Given the description of an element on the screen output the (x, y) to click on. 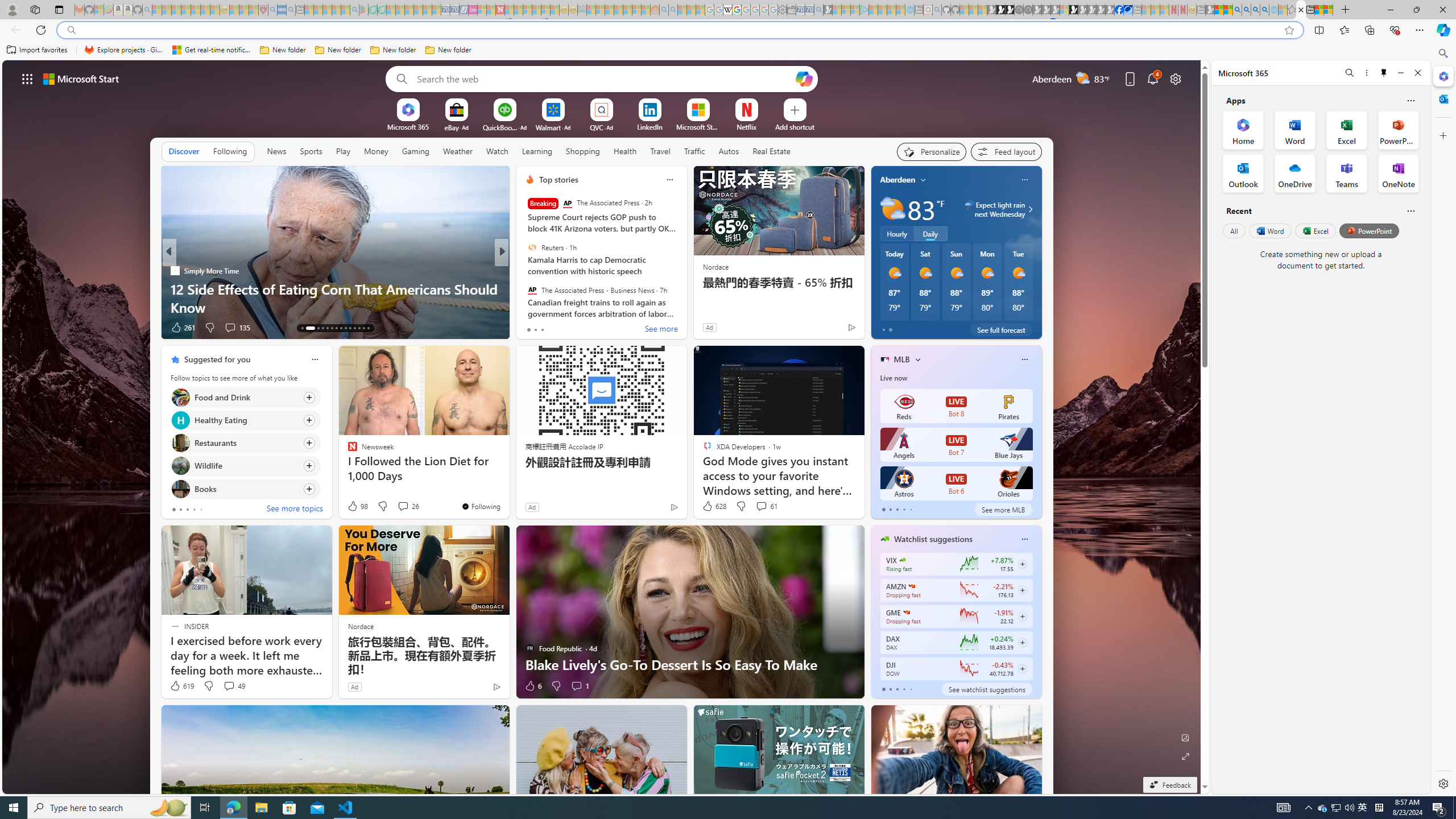
Lucy Diamond (524, 288)
Page settings (1175, 78)
Mostly sunny (1018, 273)
AutomationID: tab-25 (363, 328)
73 Like (530, 327)
tab-3 (903, 689)
